Given the description of an element on the screen output the (x, y) to click on. 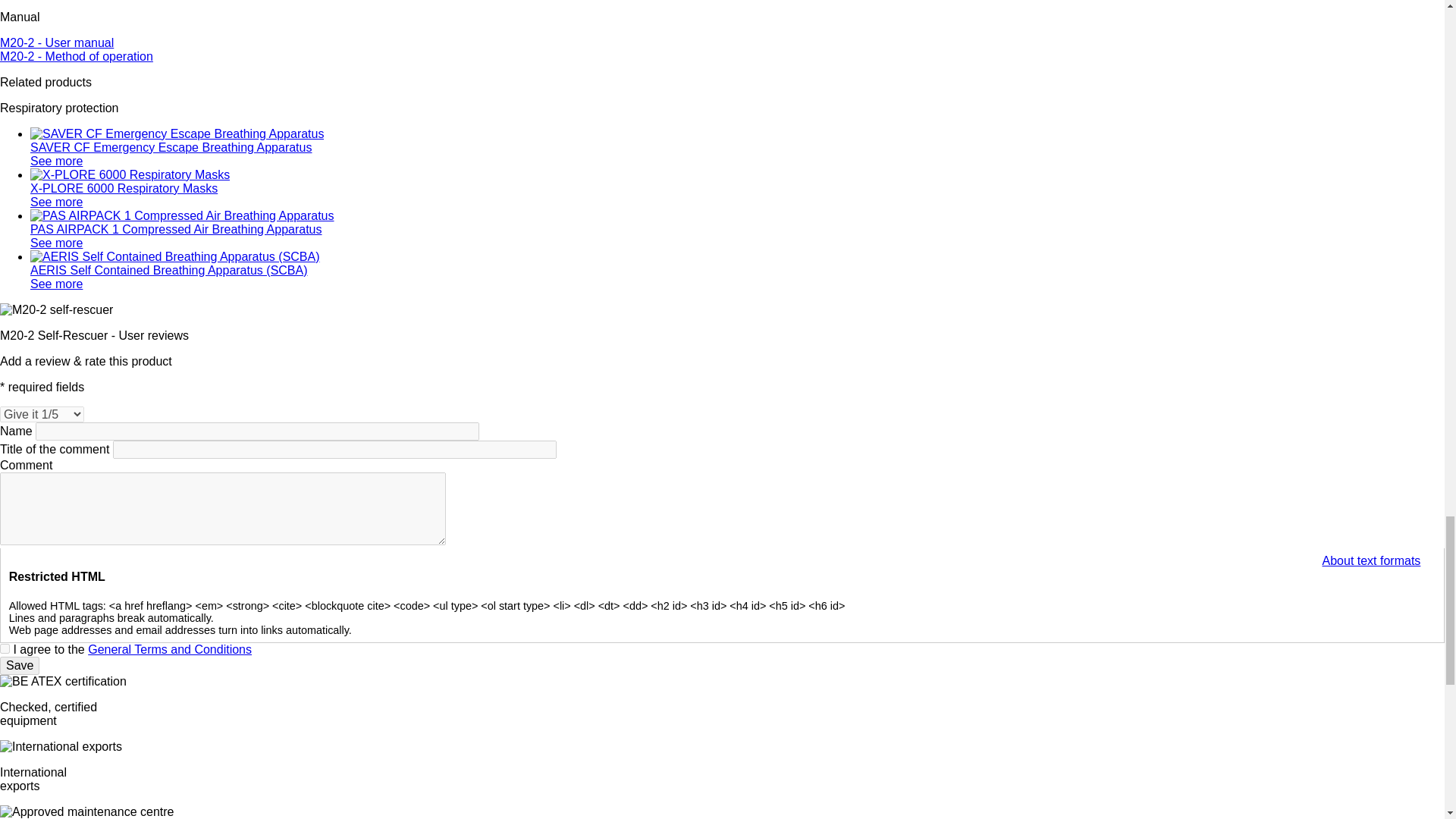
SAVER CF Emergency Escape Breathing Apparatus (176, 133)
International exports (61, 746)
Save (19, 665)
BE ATEX certification (63, 681)
PAS AIRPACK 1 Compressed Air Breathing Apparatus (182, 215)
1 (5, 648)
X-PLORE 6000 Respiratory Masks (130, 174)
M20-2 - User Guide.pdf (76, 56)
